Given the description of an element on the screen output the (x, y) to click on. 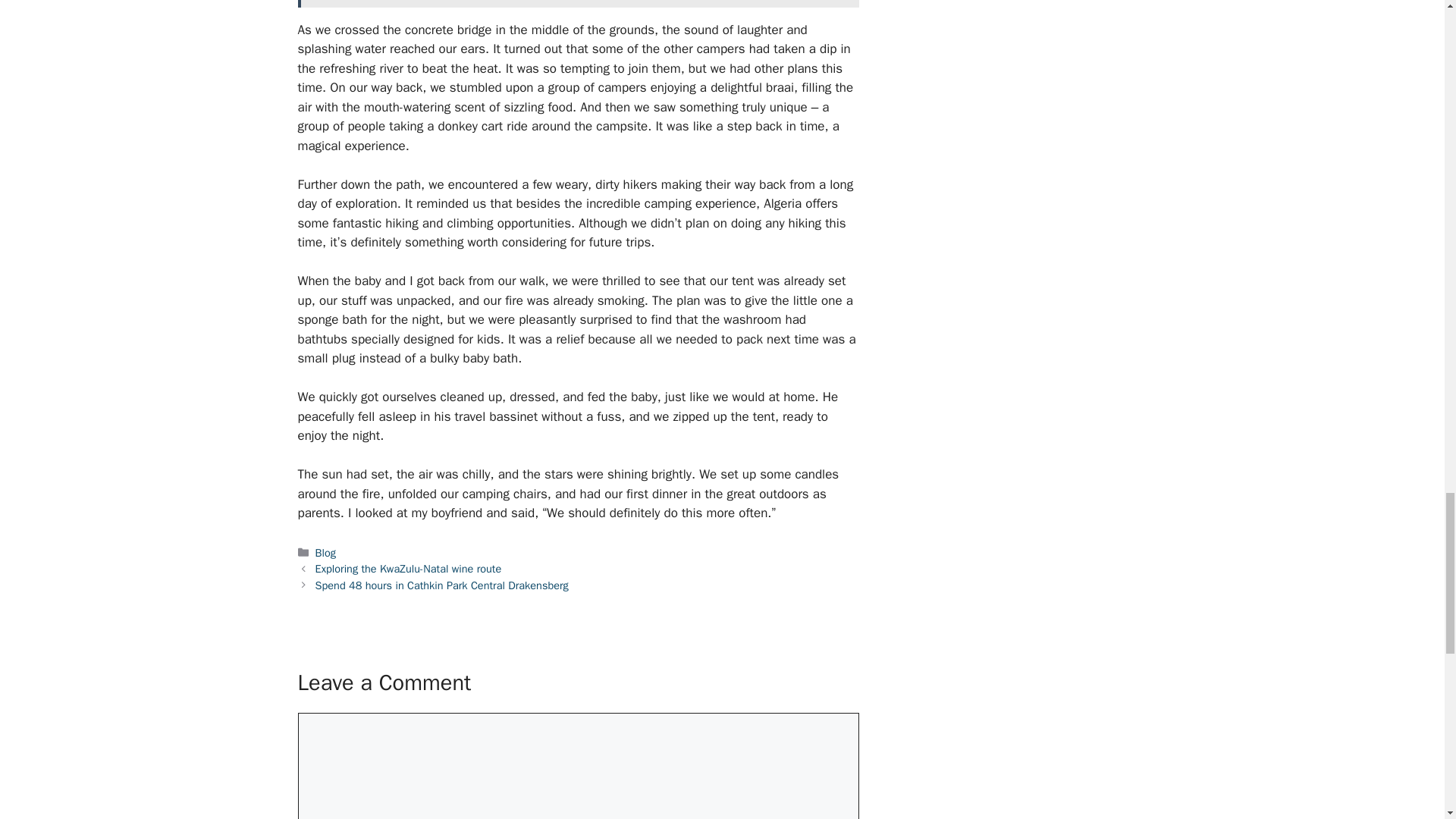
Exploring the KwaZulu-Natal wine route (408, 568)
Blog (325, 552)
Spend 48 hours in Cathkin Park Central Drakensberg (442, 585)
